Given the description of an element on the screen output the (x, y) to click on. 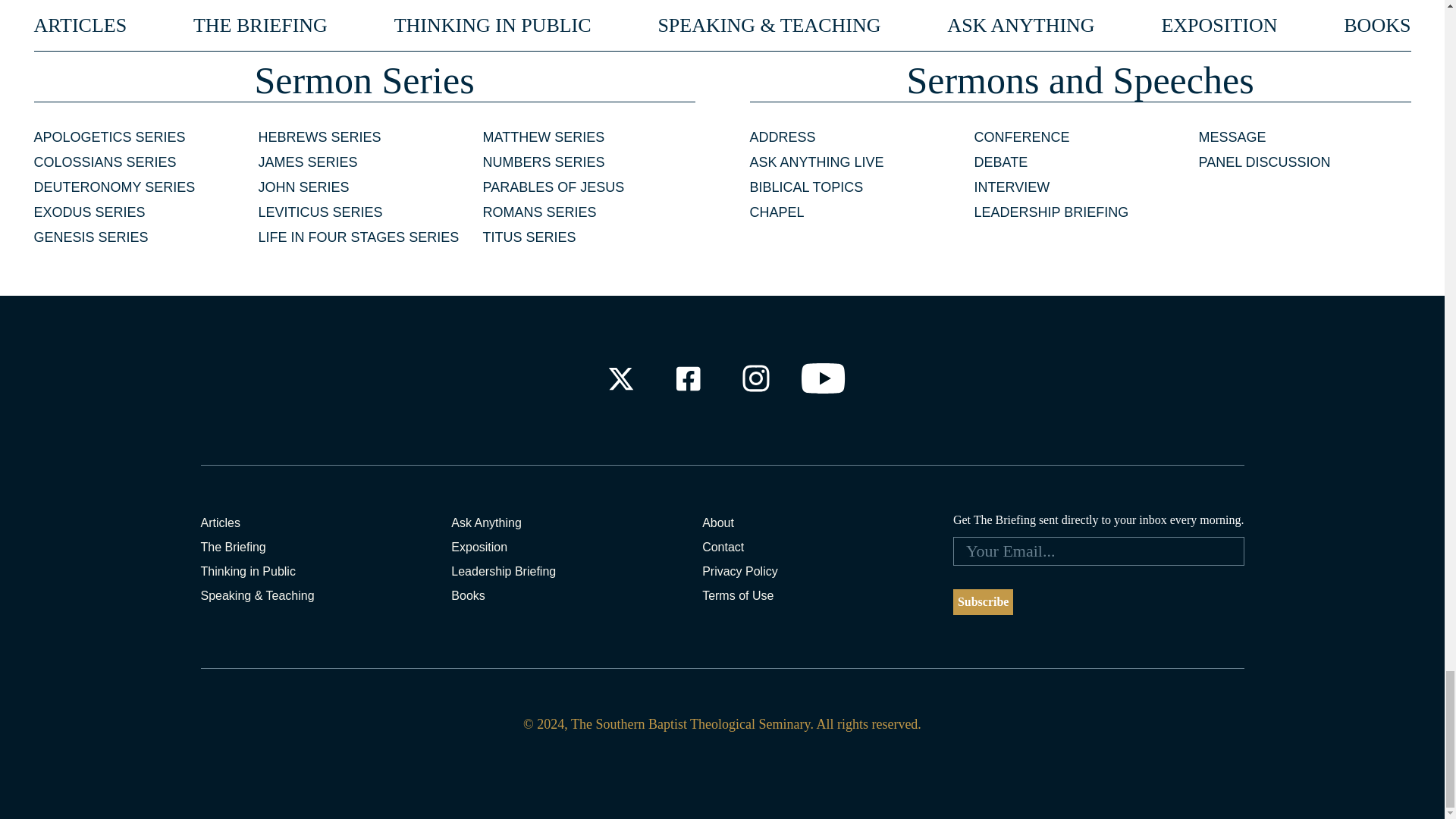
Check out our Instagram Profile (755, 378)
Check out our Youtube Channel (822, 378)
Check out our X Profile (620, 378)
Subscribe (983, 601)
Check out our Facebook Profile (687, 378)
